Given the description of an element on the screen output the (x, y) to click on. 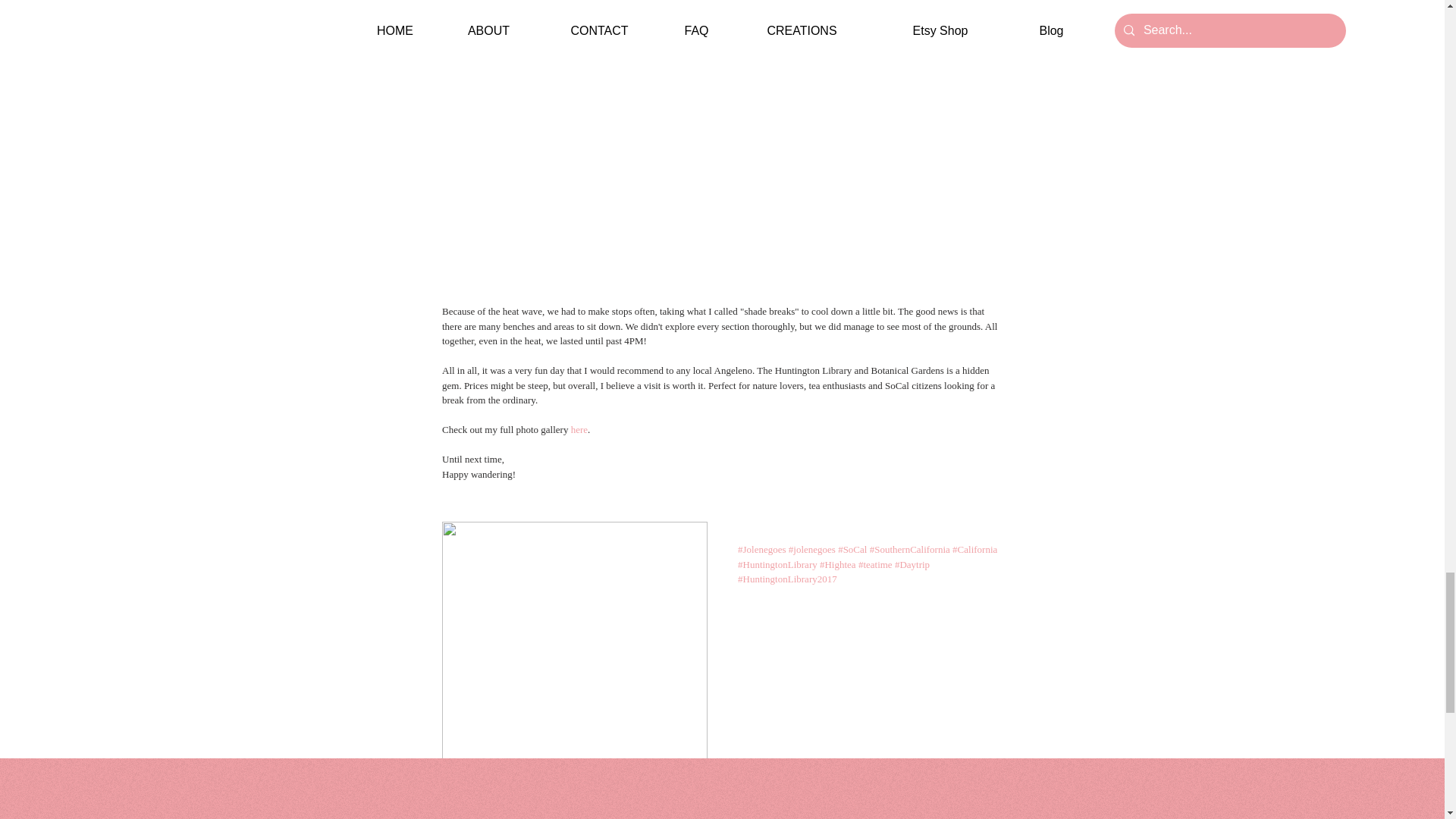
here (578, 429)
